Given the description of an element on the screen output the (x, y) to click on. 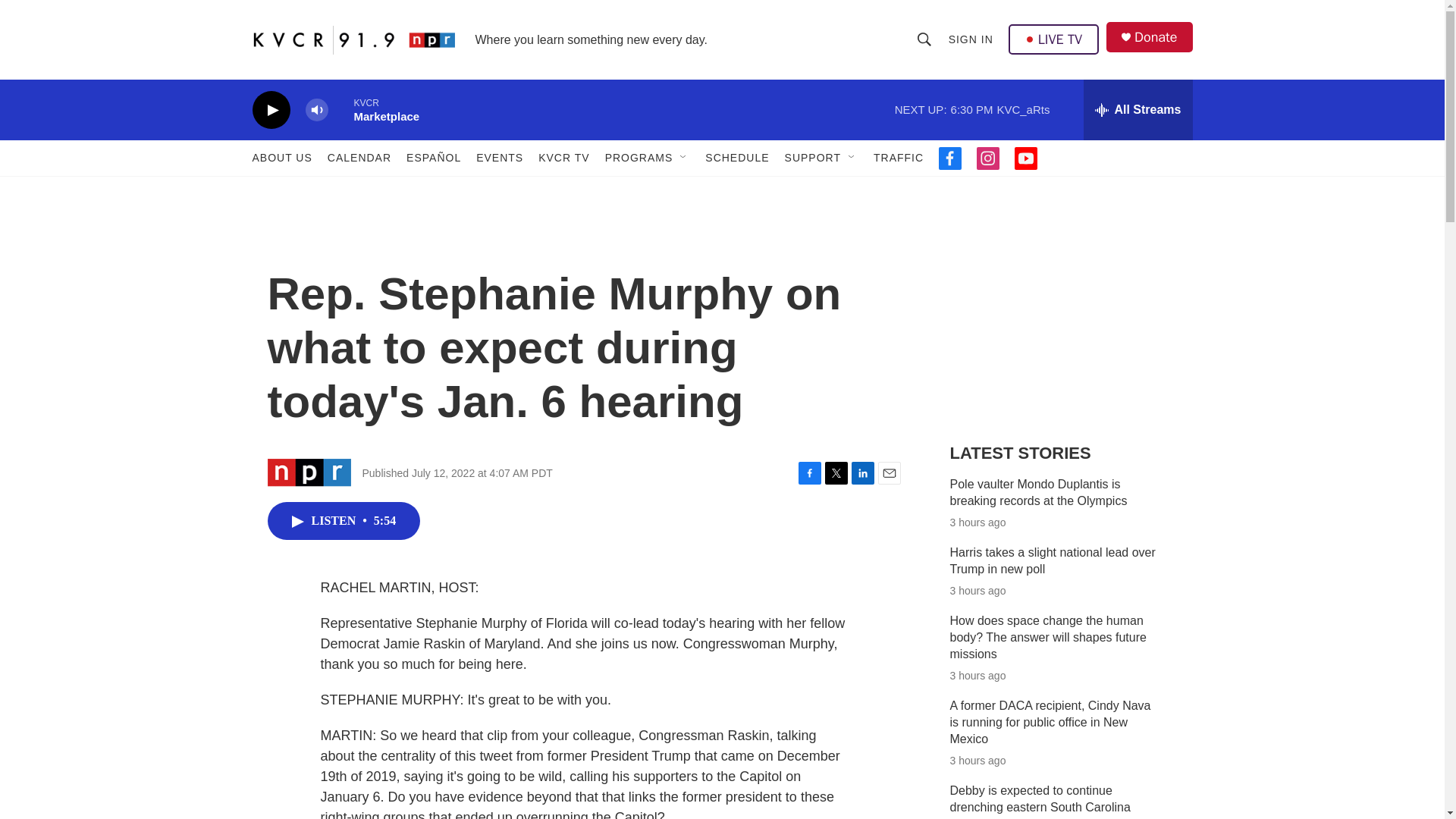
3rd party ad content (1062, 316)
